Given the description of an element on the screen output the (x, y) to click on. 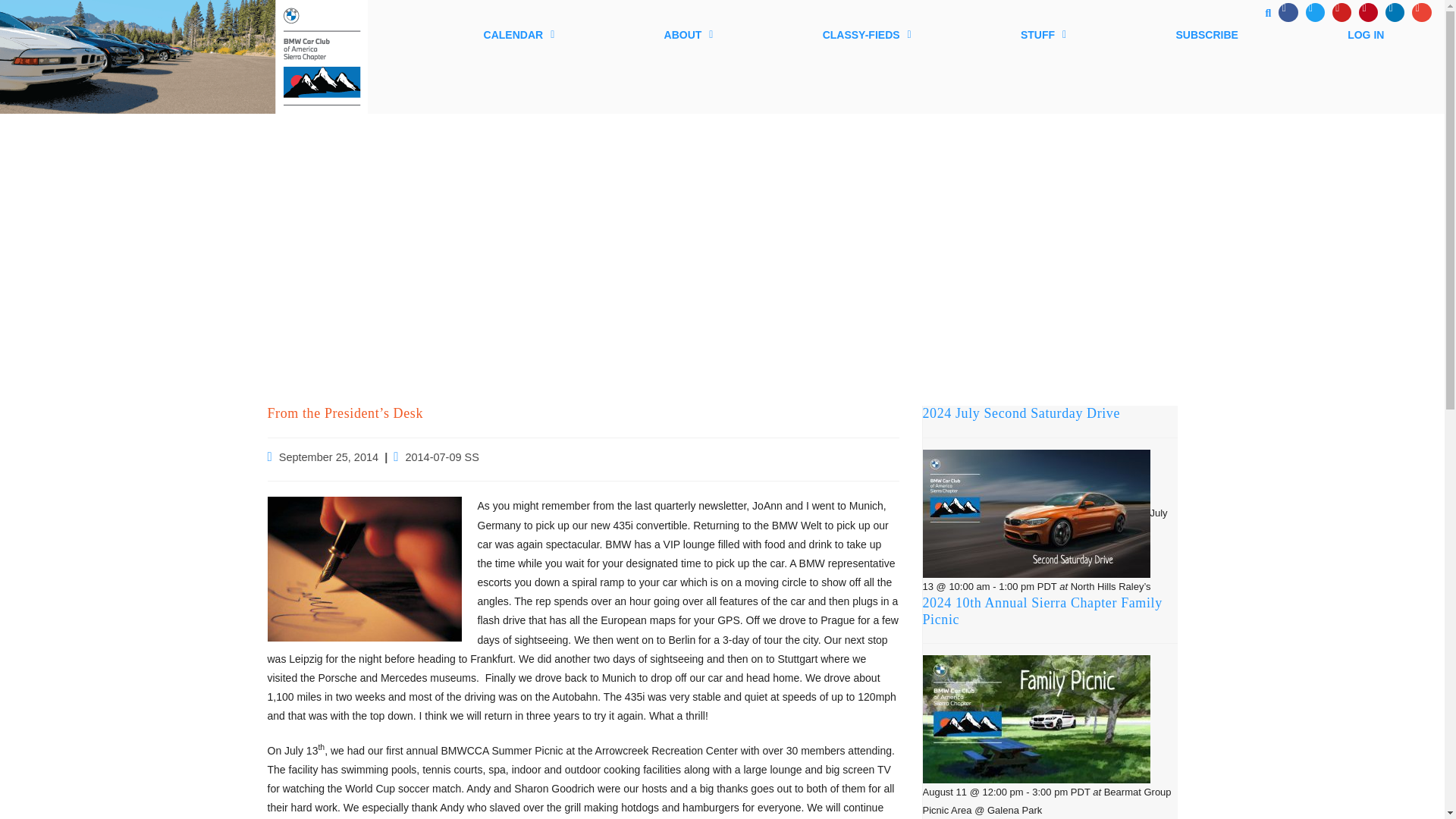
STUFF (1043, 34)
ABOUT (687, 34)
CLASSY-FIEDS (867, 34)
Search (1262, 15)
CALENDAR (518, 34)
